Given the description of an element on the screen output the (x, y) to click on. 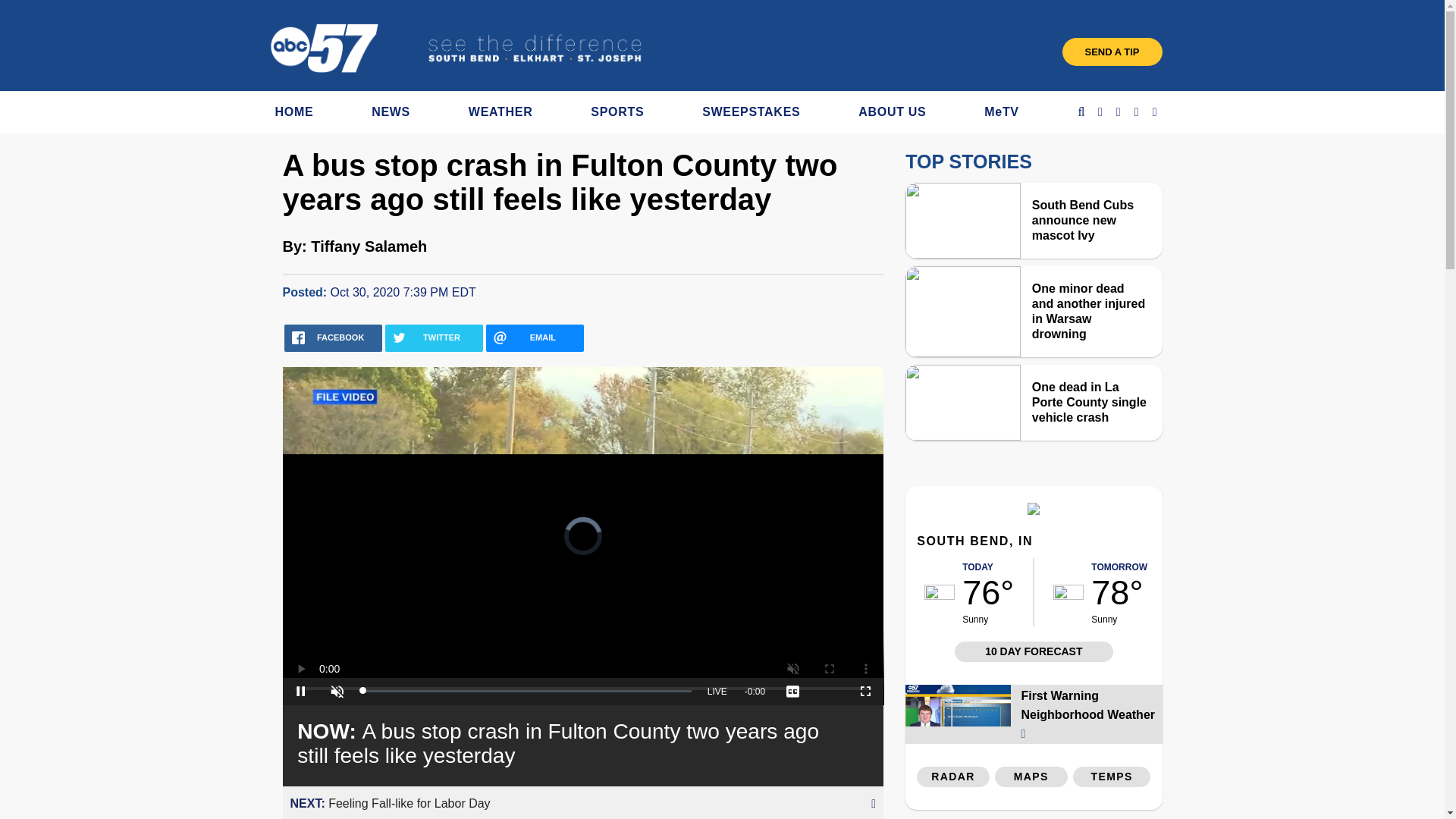
Unmute (336, 691)
Captions (792, 691)
Seek to live, currently behind live (716, 691)
Weather (1033, 510)
Pause (300, 691)
weather (939, 591)
Picture-in-Picture (828, 691)
Fullscreen (865, 691)
